Given the description of an element on the screen output the (x, y) to click on. 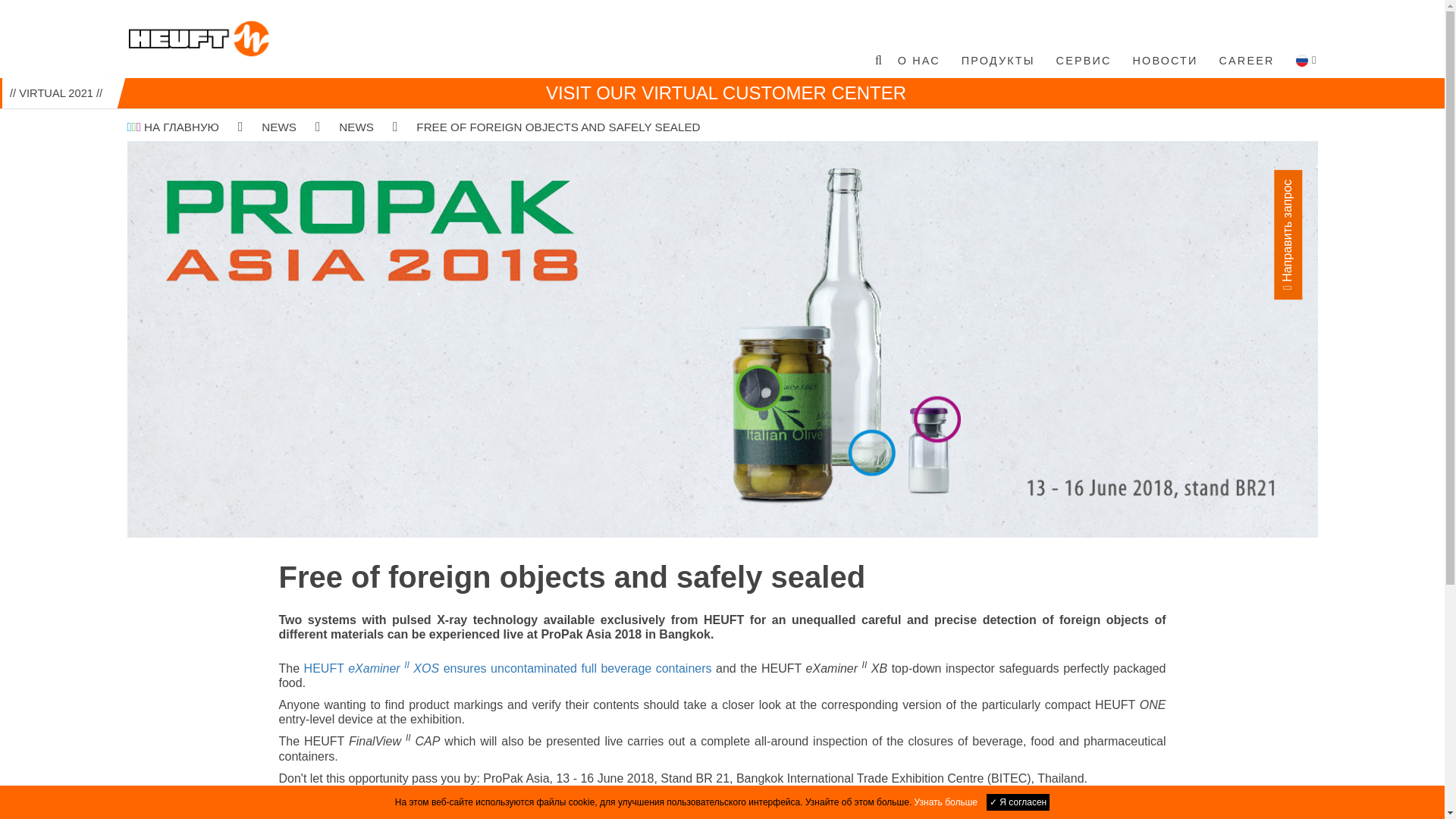
CAREER (1246, 60)
VISIT OUR VIRTUAL CUSTOMER CENTER (725, 92)
